Given the description of an element on the screen output the (x, y) to click on. 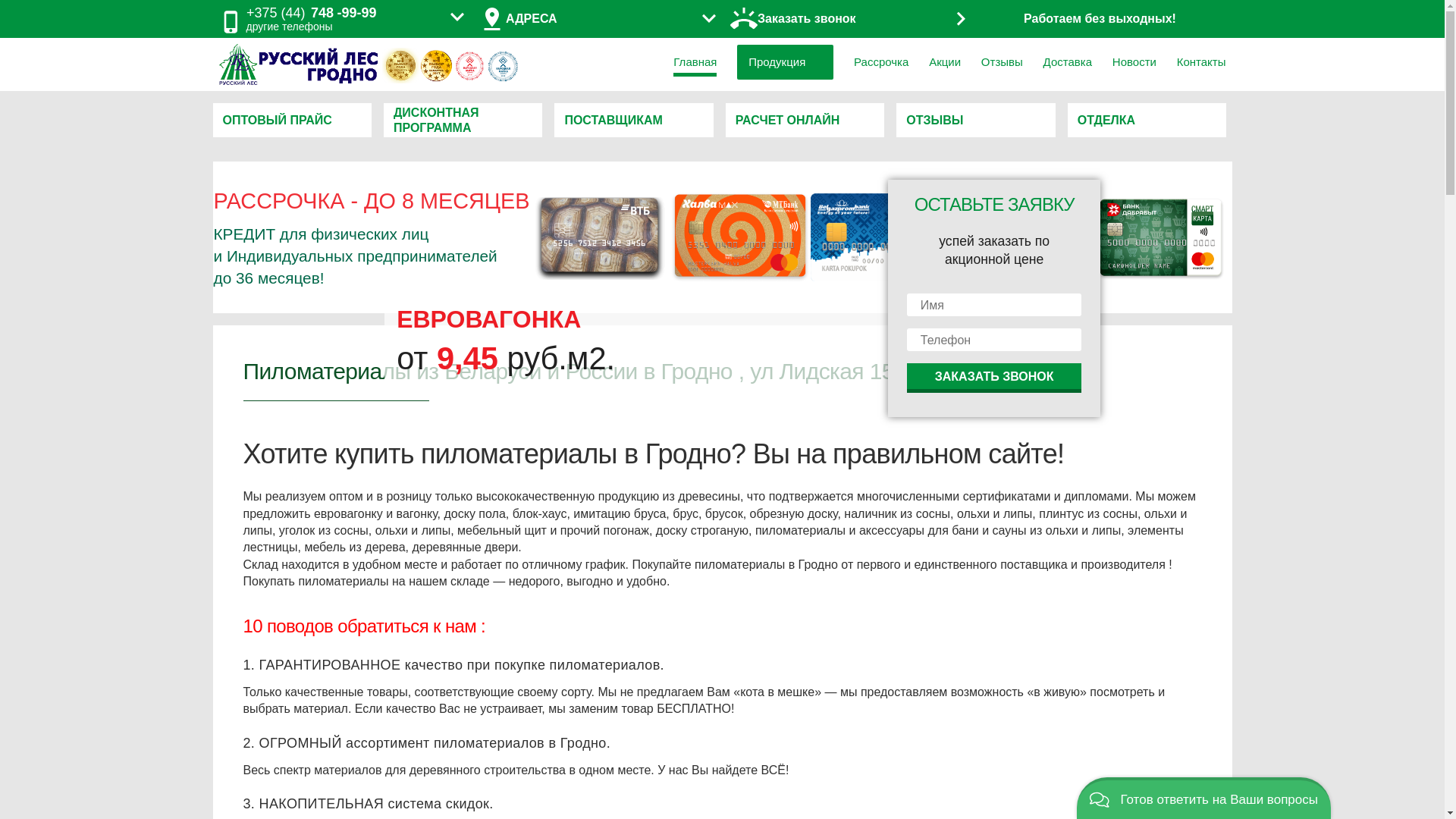
+375 (44) 748 -99-99 Element type: text (311, 12)
